Given the description of an element on the screen output the (x, y) to click on. 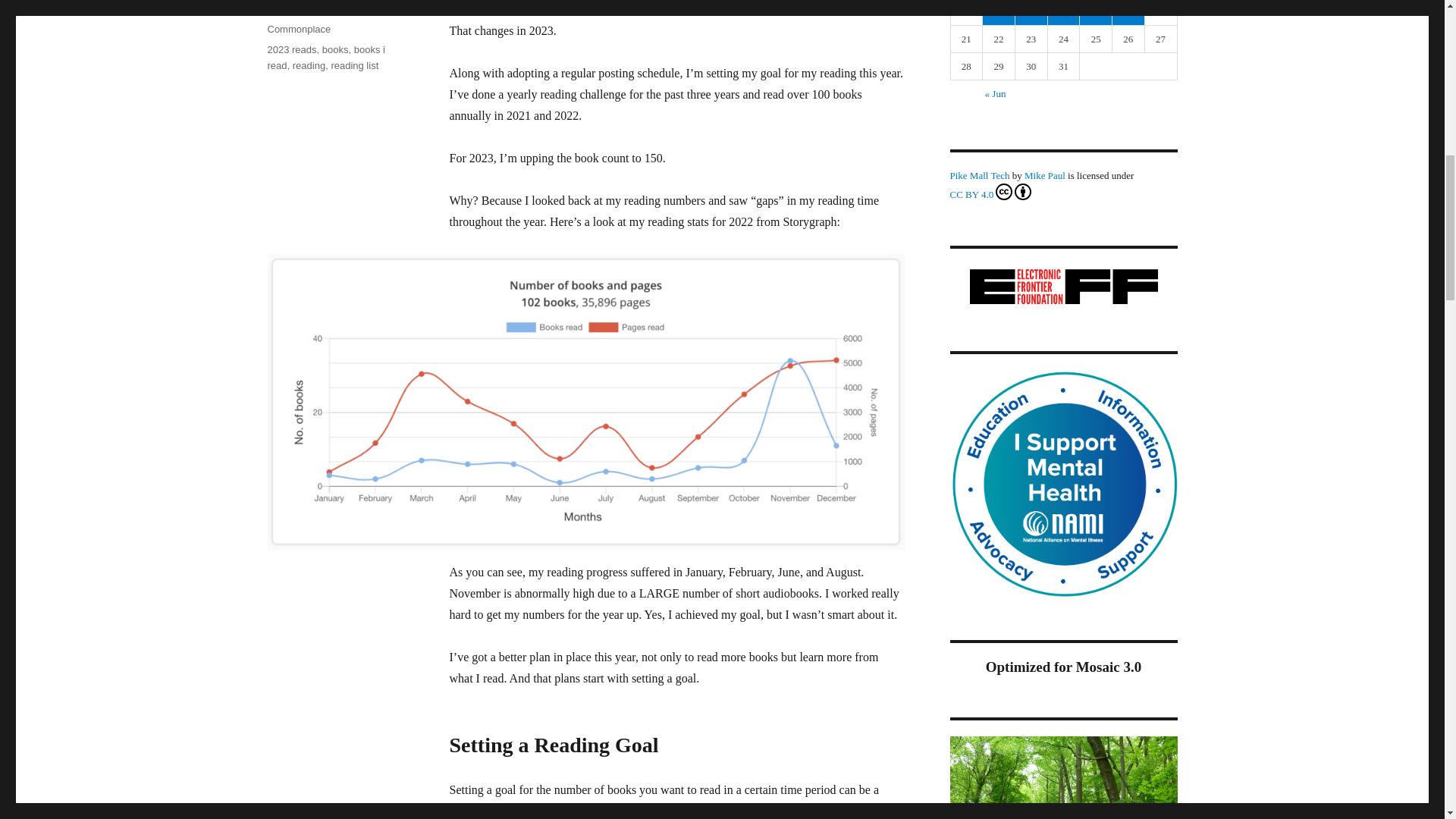
books i read (325, 57)
January 1, 2023 (301, 7)
books (335, 49)
Commonplace (298, 28)
2023 reads (290, 49)
reading (308, 65)
